Given the description of an element on the screen output the (x, y) to click on. 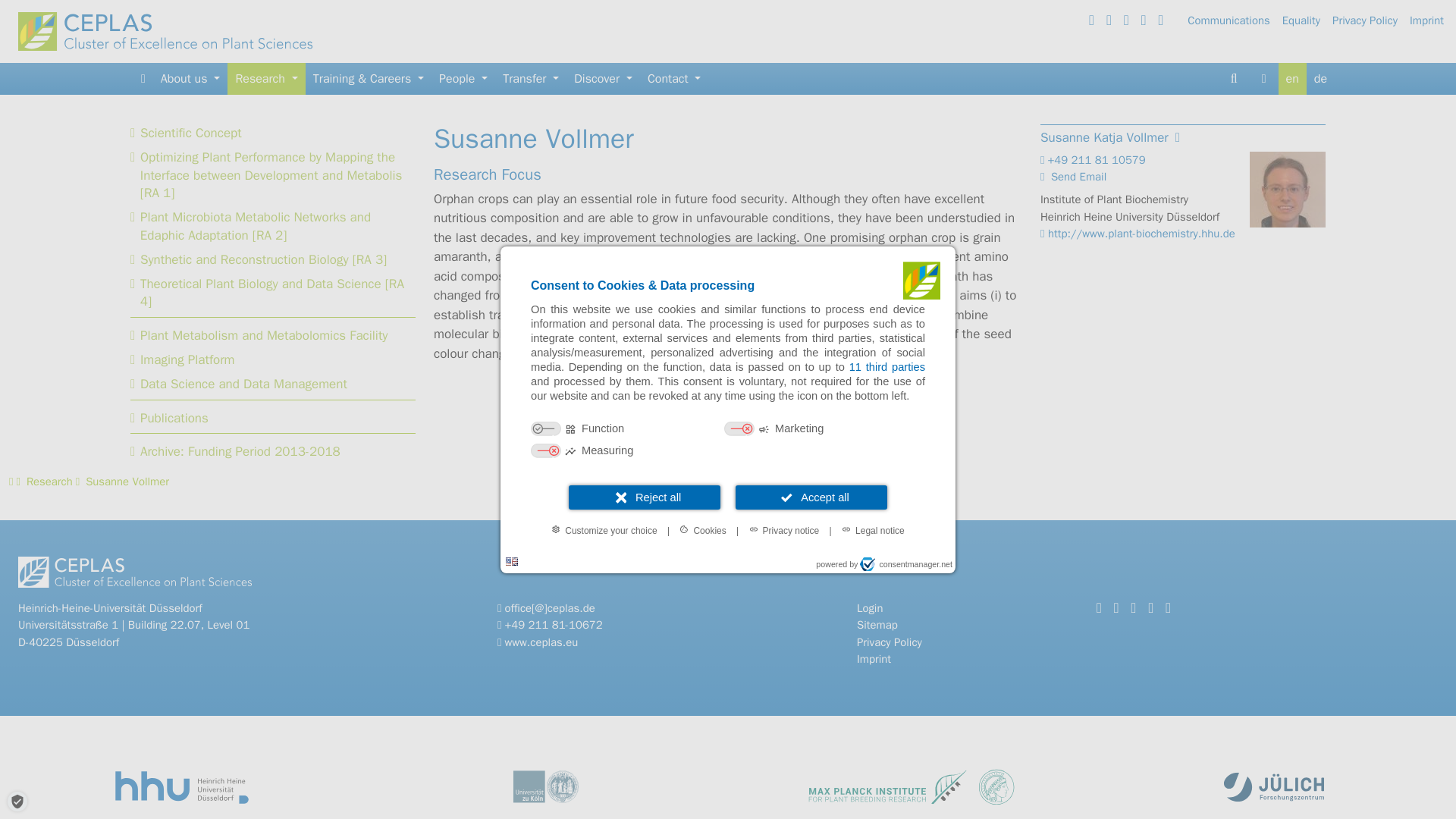
Equality (1307, 20)
Accept all (810, 496)
Equality (1307, 20)
consentmanager.net (906, 563)
Communications (1234, 20)
Language: en (511, 561)
Communications (1234, 20)
Legal notice (873, 529)
Cookies (702, 529)
Customize your choice (603, 529)
